Given the description of an element on the screen output the (x, y) to click on. 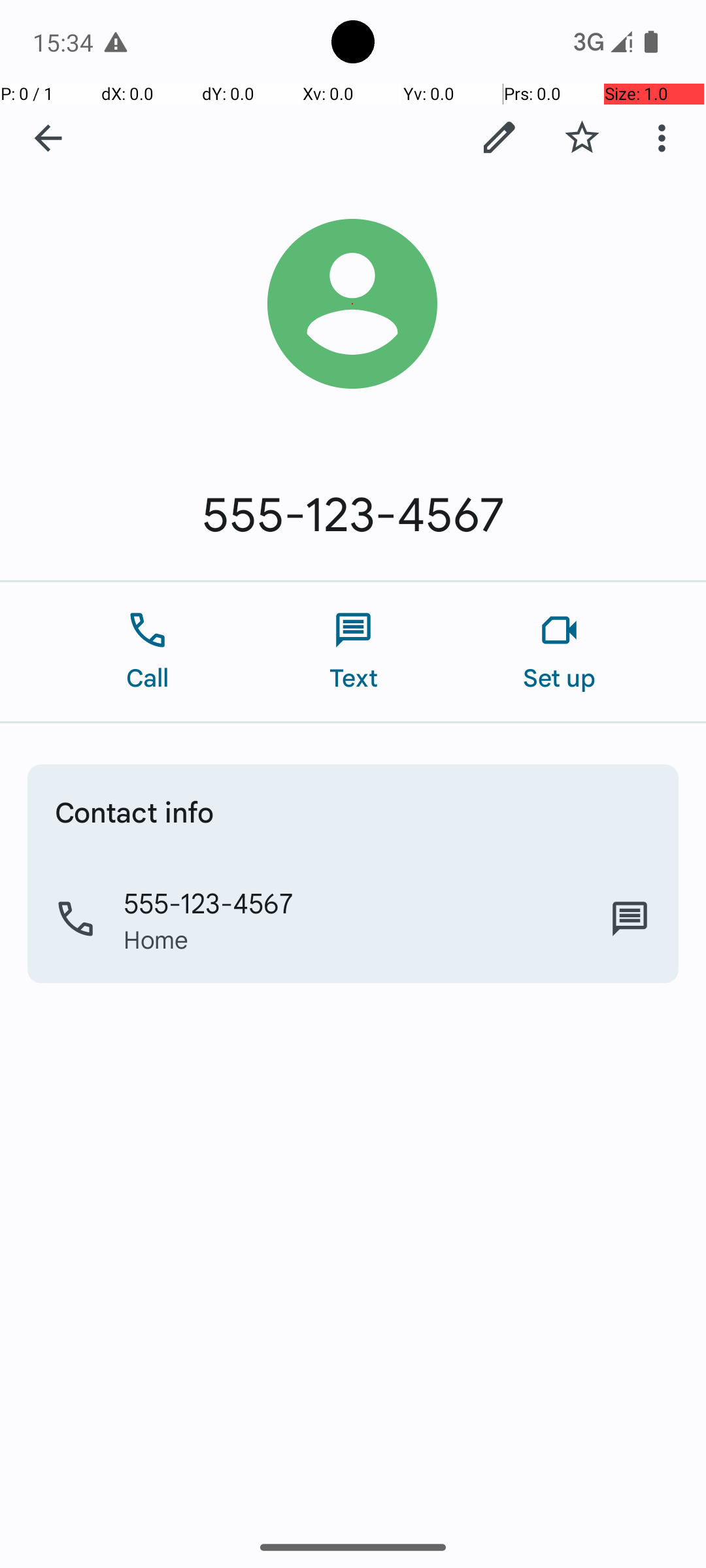
Edit contact Element type: android.widget.Button (498, 137)
Add to favorites Element type: android.widget.Button (581, 137)
Contact photo Element type: android.widget.ImageView (352, 303)
Call Element type: android.widget.TextView (147, 651)
Text Element type: android.widget.TextView (353, 651)
Set up Element type: android.widget.TextView (559, 651)
555-123-4567 Element type: android.widget.TextView (352, 514)
Contact info Element type: android.widget.TextView (134, 811)
Call Home 555-123-4567 Element type: android.widget.RelativeLayout (352, 919)
Text Home 555-123-4567 Element type: android.widget.Button (629, 919)
